Given the description of an element on the screen output the (x, y) to click on. 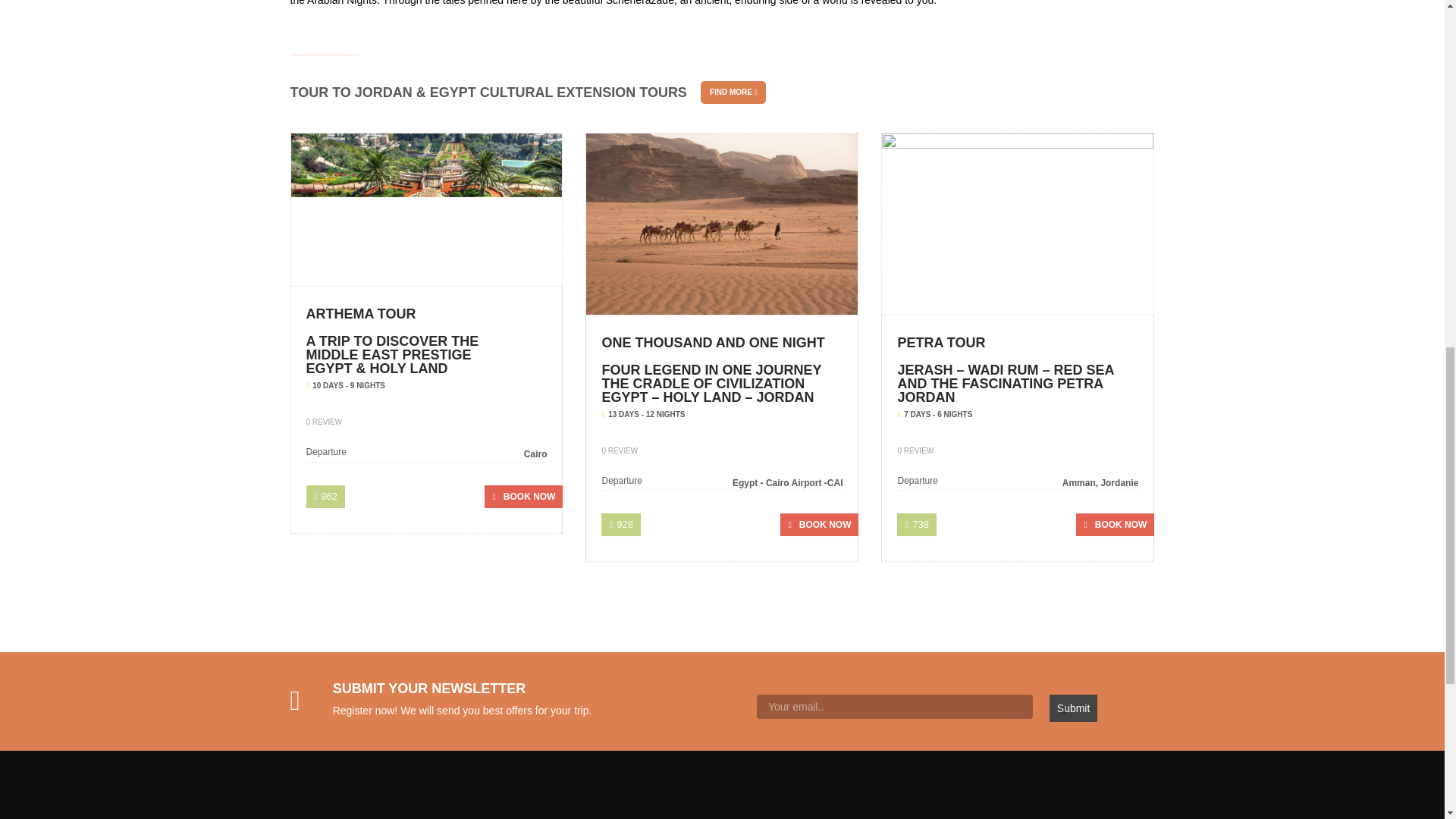
Submit (1073, 707)
BOOK NOW (819, 524)
BOOK NOW (523, 496)
Submit (1073, 707)
BOOK NOW (1114, 524)
FIND MORE (733, 92)
